Given the description of an element on the screen output the (x, y) to click on. 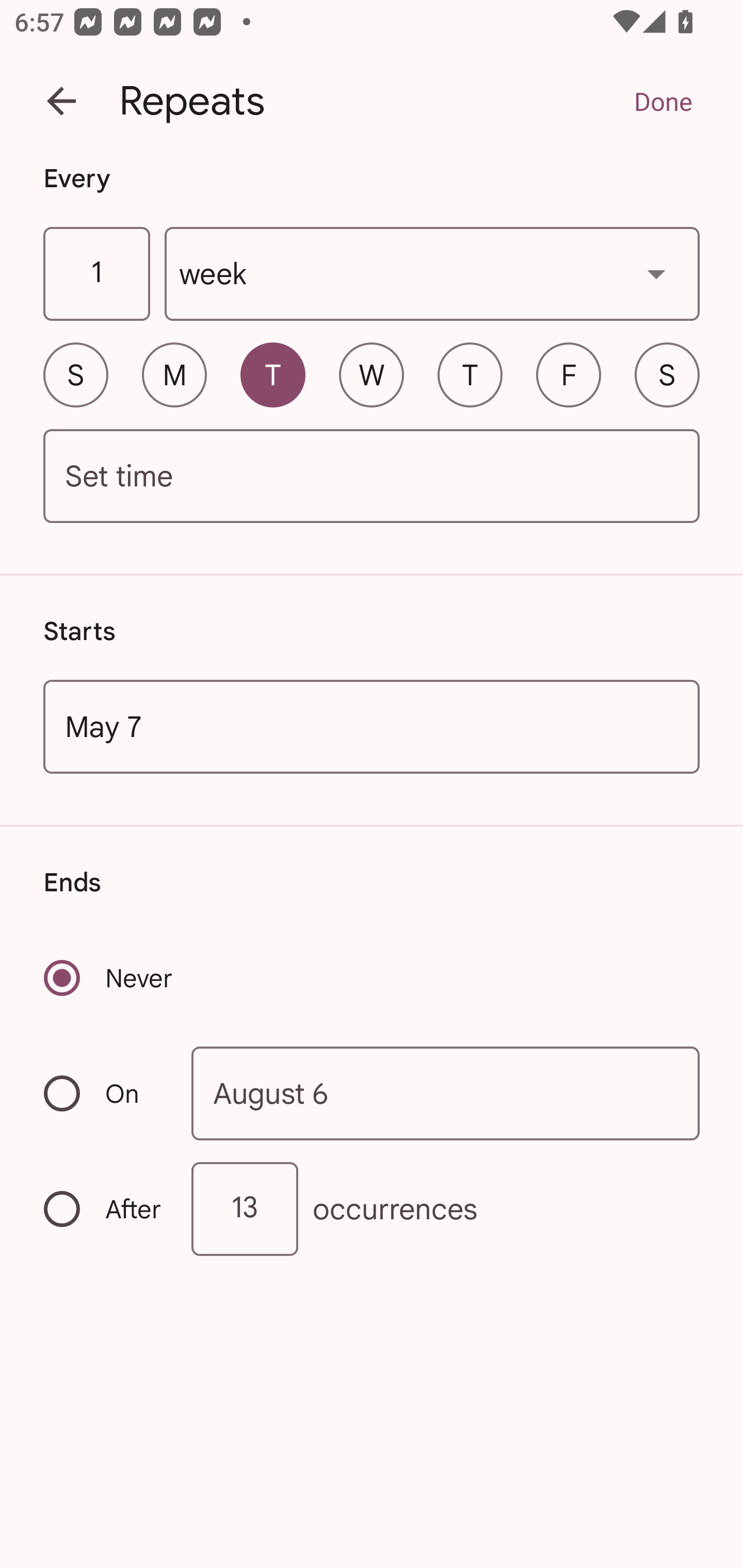
Back (61, 101)
Done (663, 101)
1 (96, 274)
week (431, 274)
Show dropdown menu (655, 273)
S Sunday (75, 374)
M Monday (173, 374)
T Tuesday, selected (272, 374)
W Wednesday (371, 374)
T Thursday (469, 374)
F Friday (568, 374)
S Saturday (666, 374)
Set time (371, 476)
May 7 (371, 726)
Never Recurrence never ends (109, 978)
August 6 (445, 1092)
On Recurrence ends on a specific date (104, 1093)
13 (244, 1208)
